Given the description of an element on the screen output the (x, y) to click on. 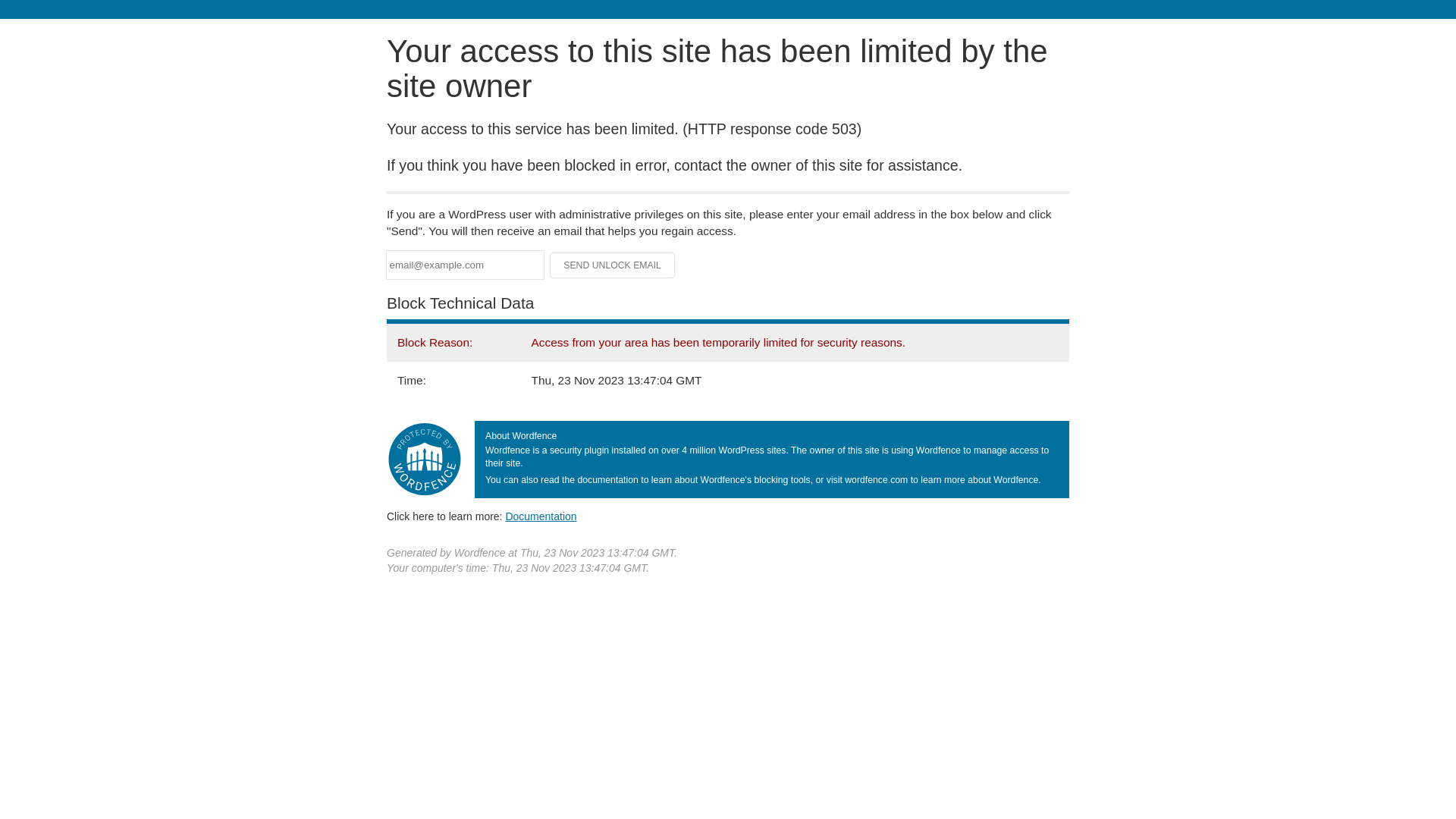
Send Unlock Email Element type: text (612, 265)
Documentation Element type: text (540, 516)
